Given the description of an element on the screen output the (x, y) to click on. 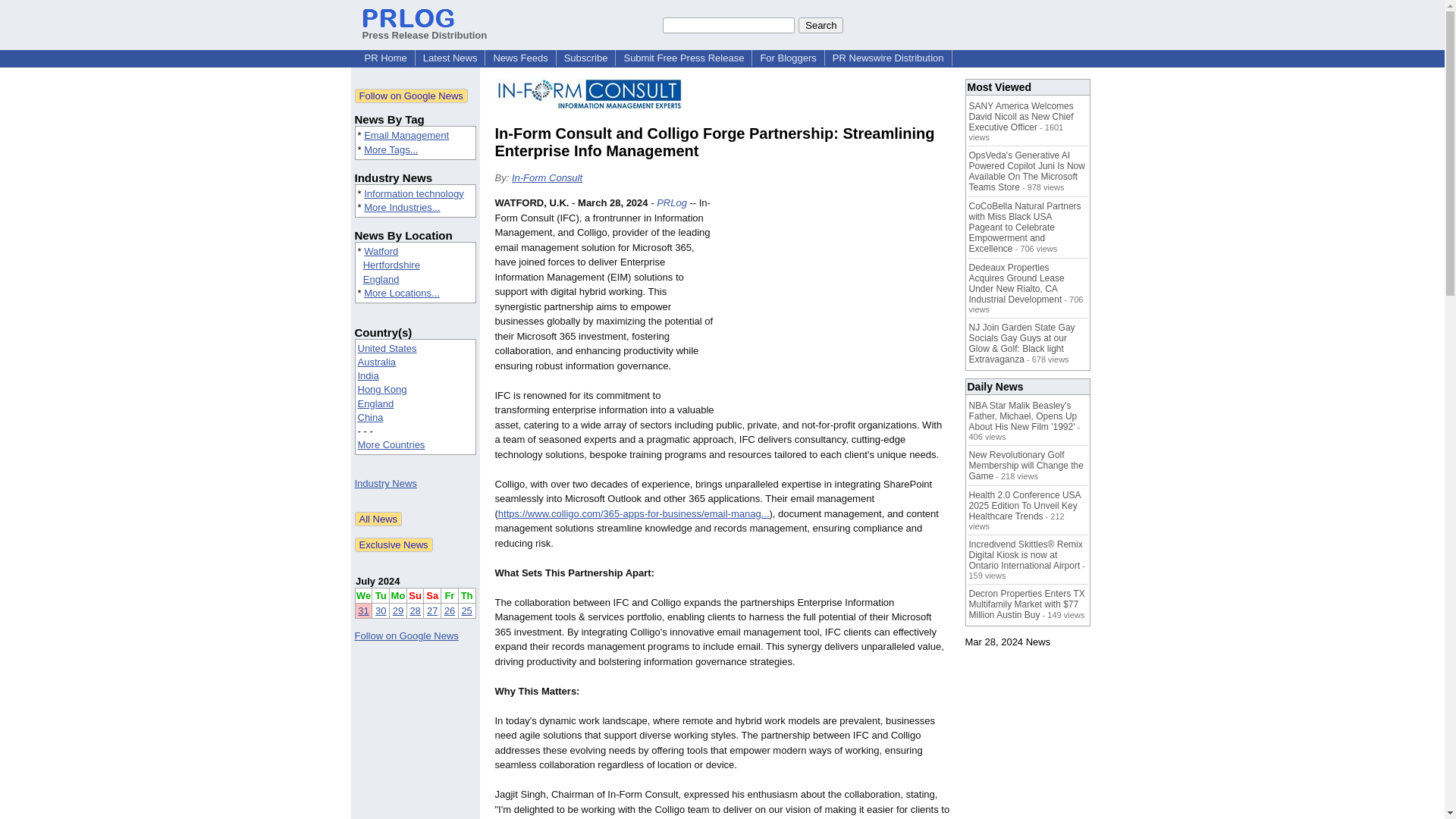
30 (380, 610)
Search (820, 24)
PRLog (671, 202)
Subscribe (585, 57)
Search (820, 24)
Follow on Google News (411, 95)
England (376, 403)
Industry News (385, 482)
For Bloggers (788, 57)
Follow on Google News (406, 635)
Email Management (406, 134)
China (371, 417)
More Countries (391, 444)
Submit Free Press Release (683, 57)
News Feeds (519, 57)
